Given the description of an element on the screen output the (x, y) to click on. 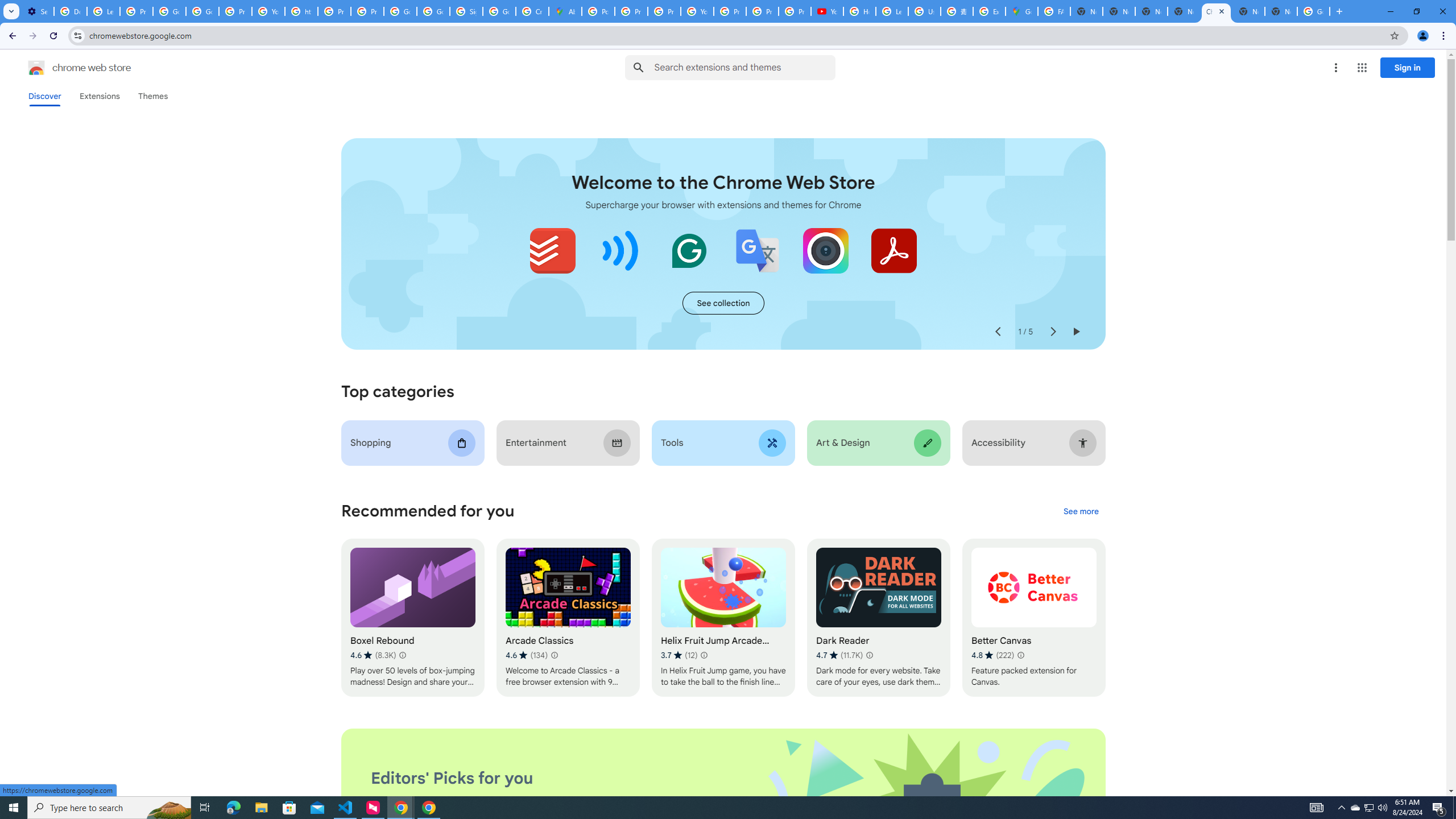
See more personalized recommendations (1080, 511)
Learn more about results and reviews "Dark Reader" (869, 655)
See more of the "Extensions starter kit" collection (722, 303)
Helix Fruit Jump Arcade Game (722, 617)
Better Canvas (1033, 617)
Todoist for Chrome (552, 250)
How Chrome protects your passwords - Google Chrome Help (859, 11)
Search input (744, 67)
Privacy Help Center - Policies Help (663, 11)
